Given the description of an element on the screen output the (x, y) to click on. 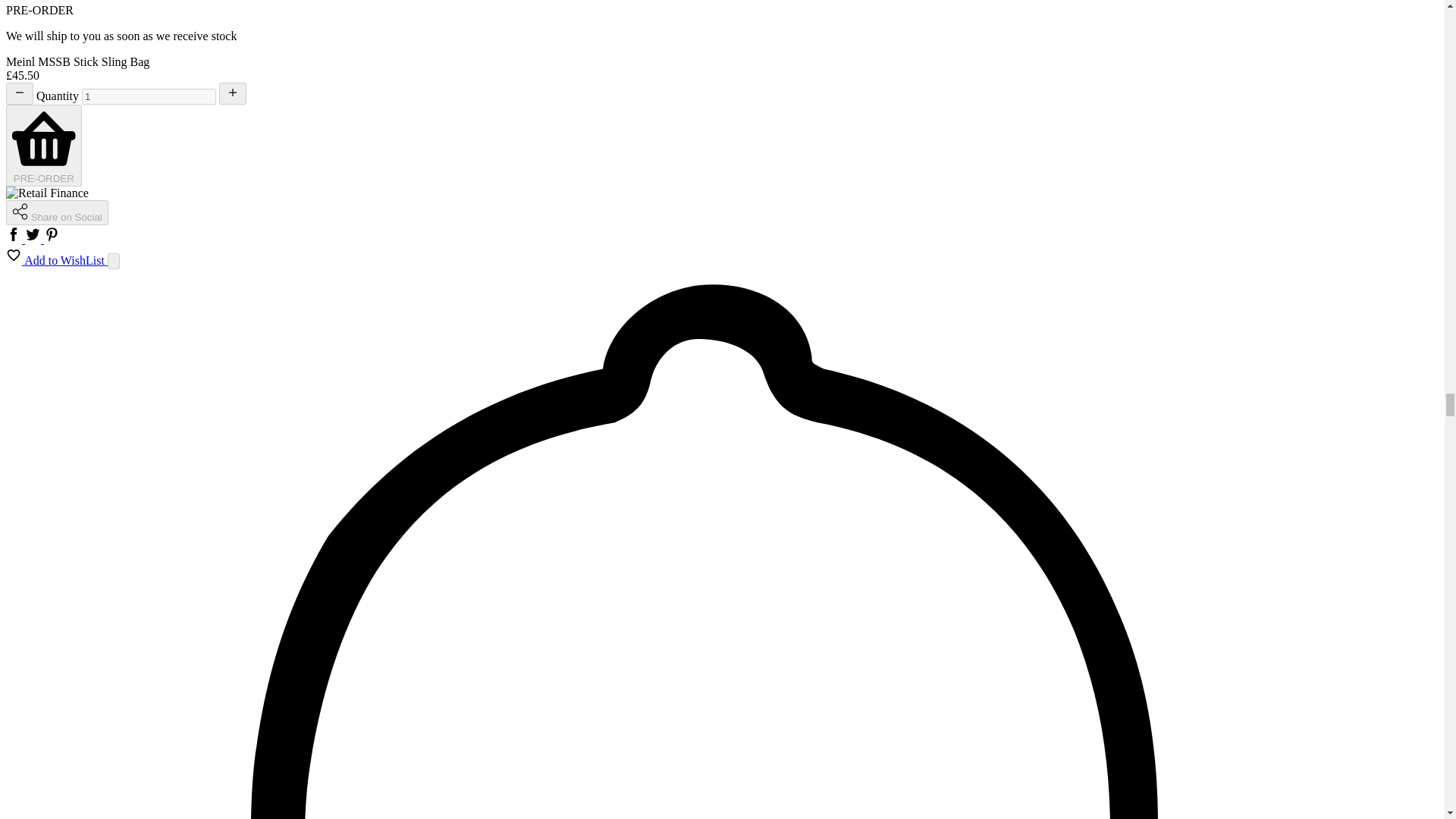
Share On Pinterest (51, 238)
PRE-ORDER (43, 145)
Quantity (148, 96)
Share On Twitter (33, 238)
Share On Facebook (14, 238)
1 (148, 96)
